Given the description of an element on the screen output the (x, y) to click on. 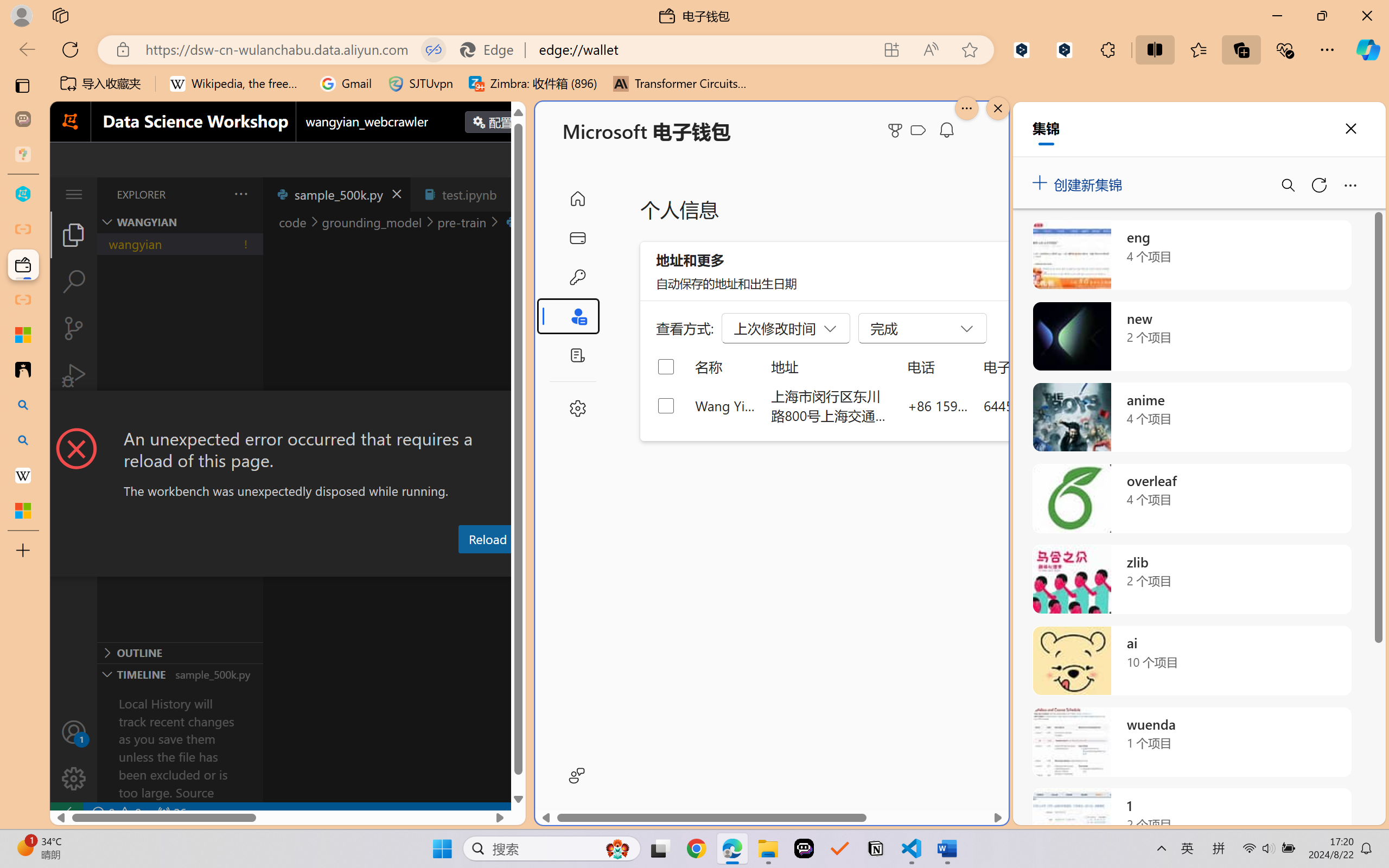
Application Menu (73, 194)
Reload (486, 538)
Microsoft Cashback (920, 130)
remote (66, 812)
Earth - Wikipedia (22, 475)
